Given the description of an element on the screen output the (x, y) to click on. 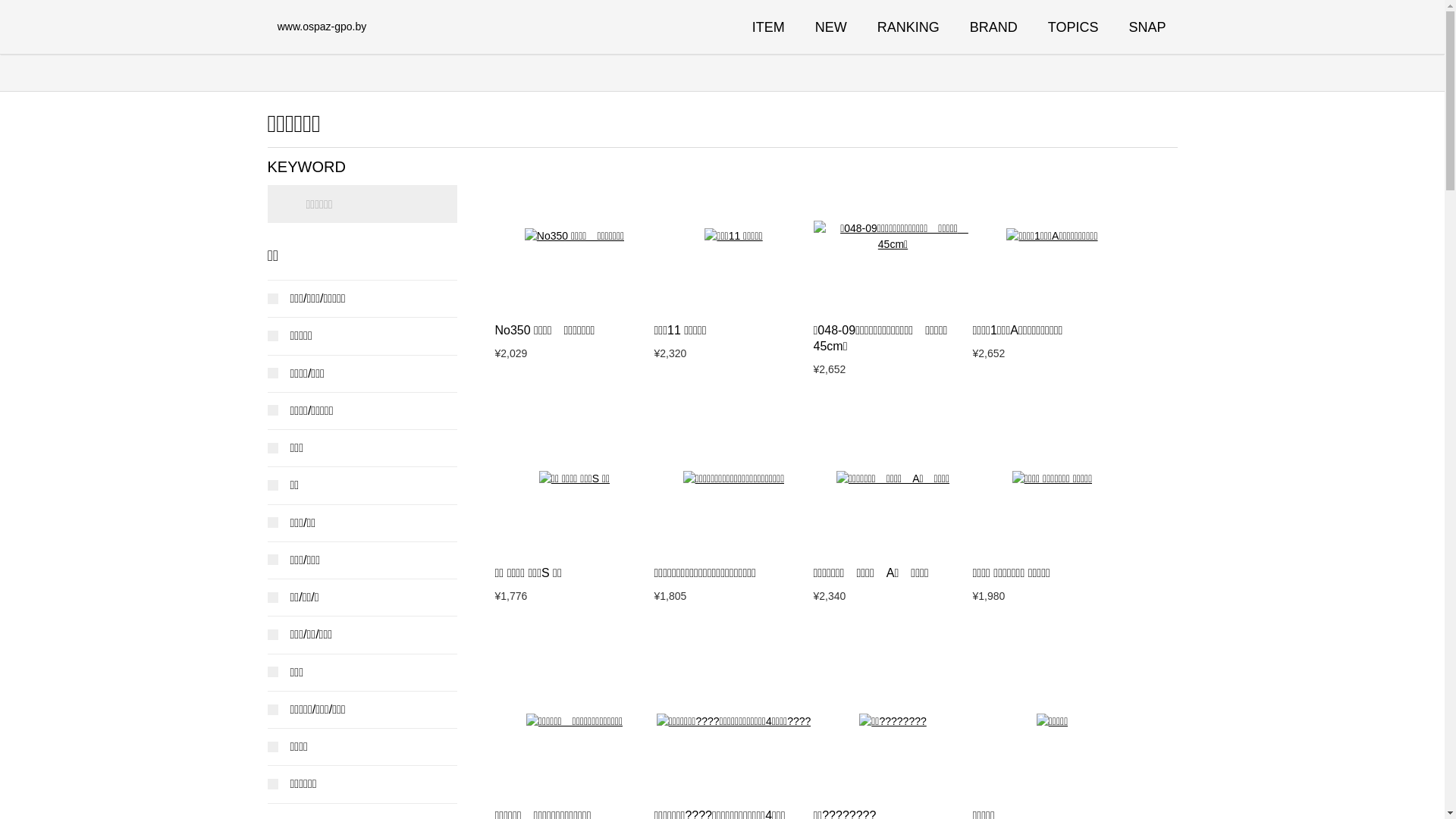
SNAP Element type: text (1146, 26)
BRAND Element type: text (993, 26)
RANKING Element type: text (908, 26)
NEW Element type: text (831, 26)
TOPICS Element type: text (1073, 26)
ITEM Element type: text (768, 26)
